Given the description of an element on the screen output the (x, y) to click on. 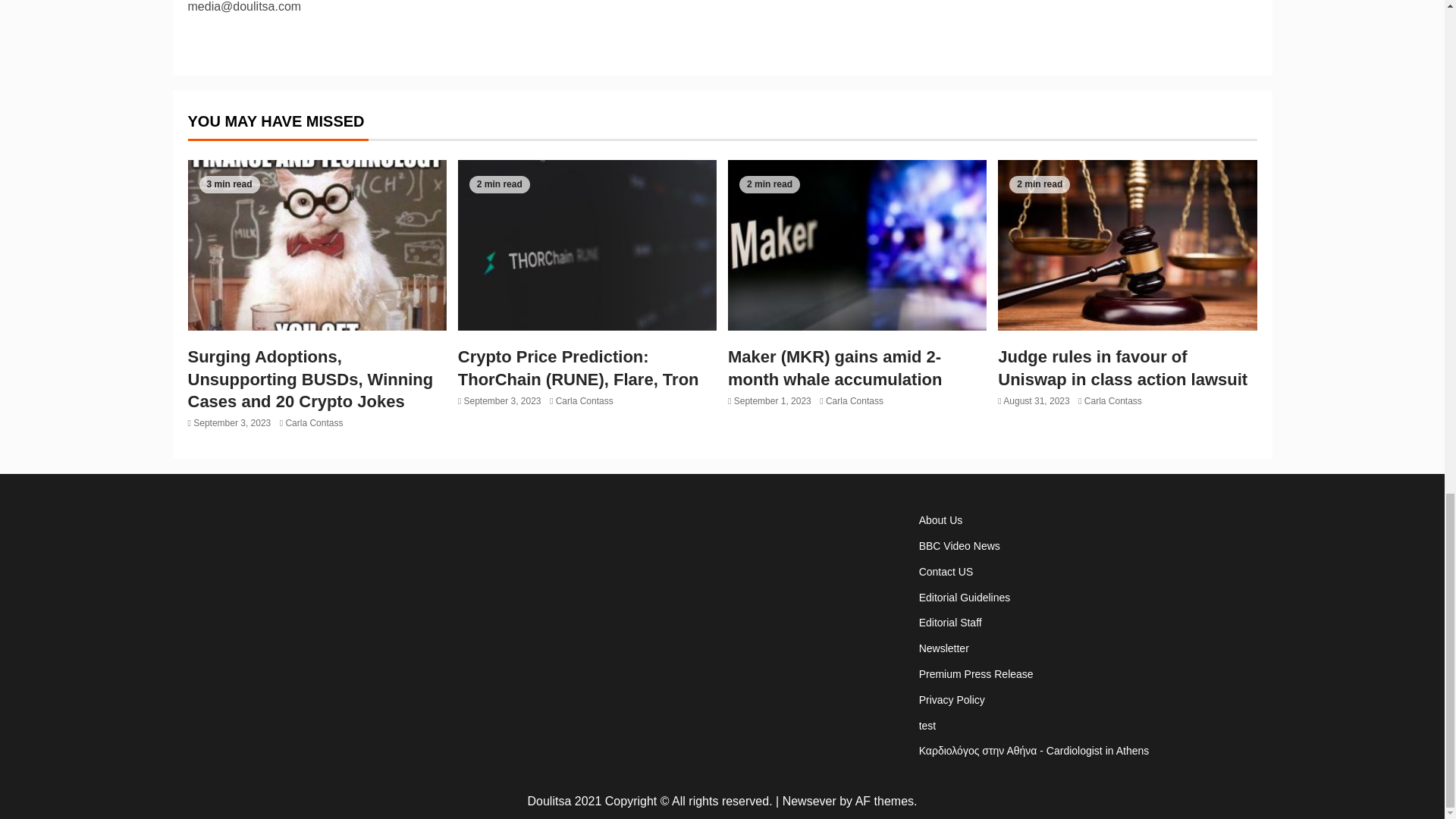
Carla Contass (313, 422)
